Given the description of an element on the screen output the (x, y) to click on. 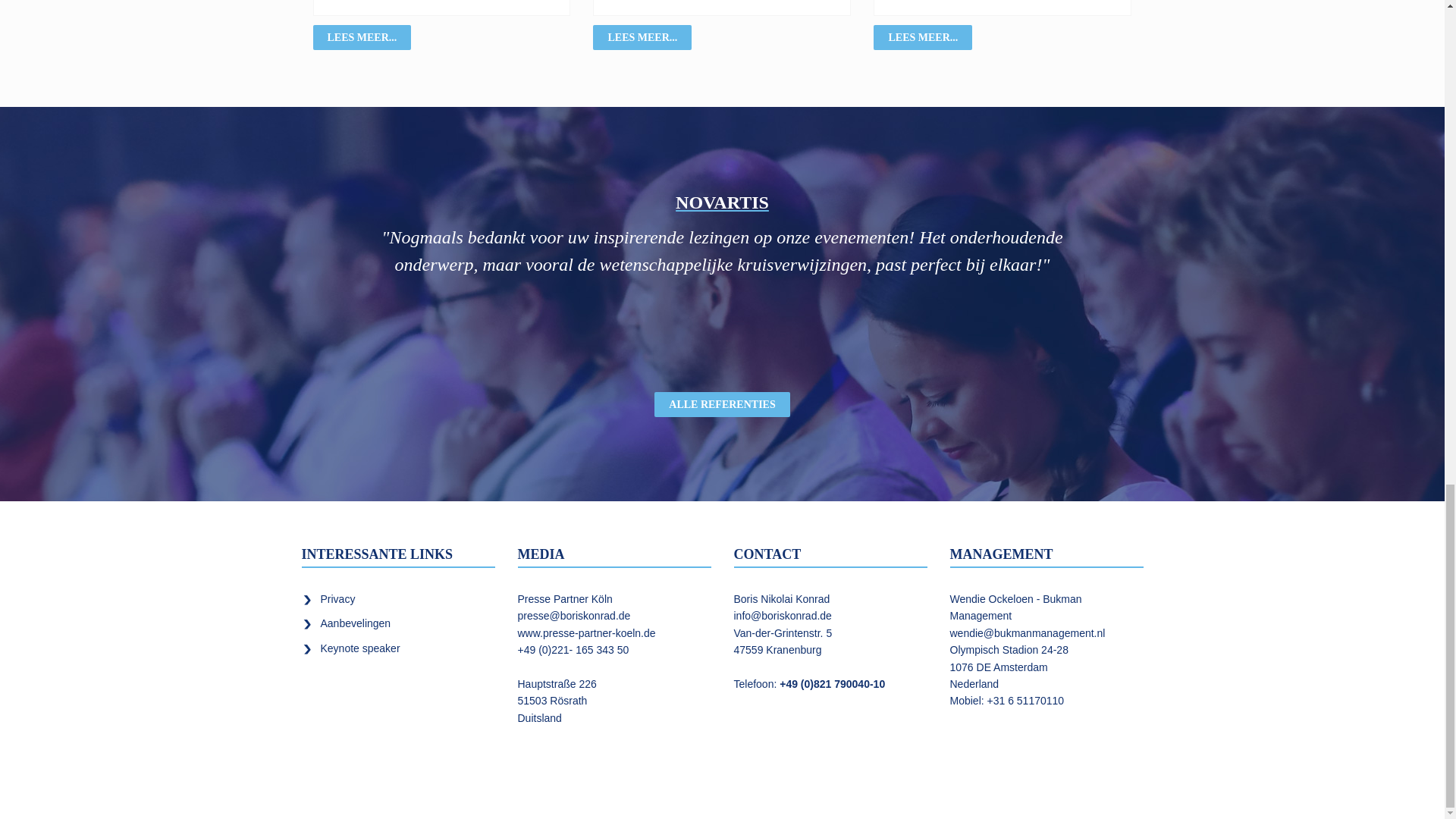
LEES MEER... (922, 37)
LEES MEER... (641, 37)
NOVARTIS (721, 200)
Novartis (721, 200)
LEES MEER... (361, 37)
